Given the description of an element on the screen output the (x, y) to click on. 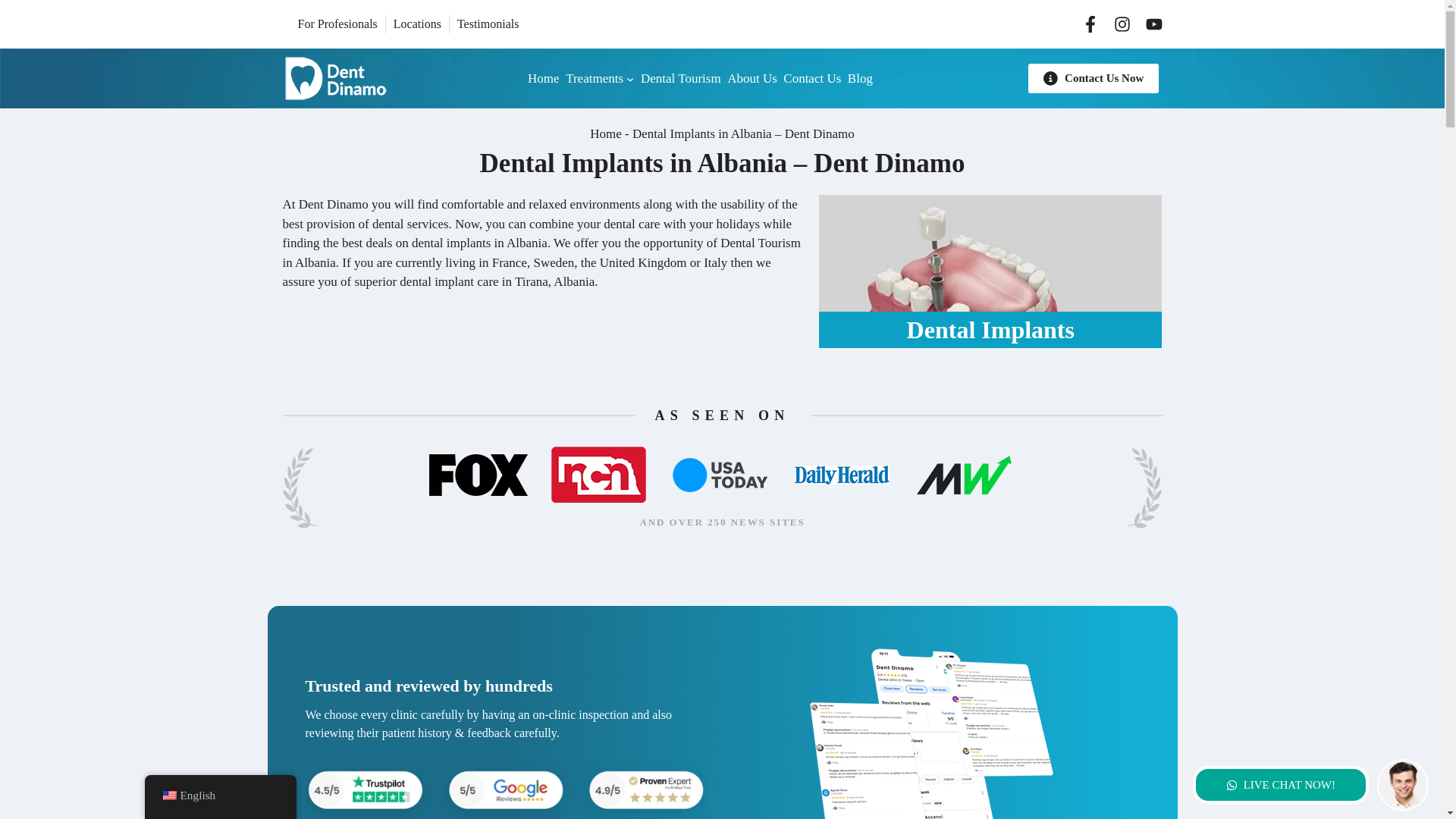
Locations (417, 23)
Ratings (505, 789)
logo-300x128 (334, 78)
Treatments (594, 78)
Home (543, 78)
222face-1 (1402, 784)
Testimonials (488, 23)
6222328378 (930, 731)
English (168, 795)
For Profesionals (337, 23)
